Given the description of an element on the screen output the (x, y) to click on. 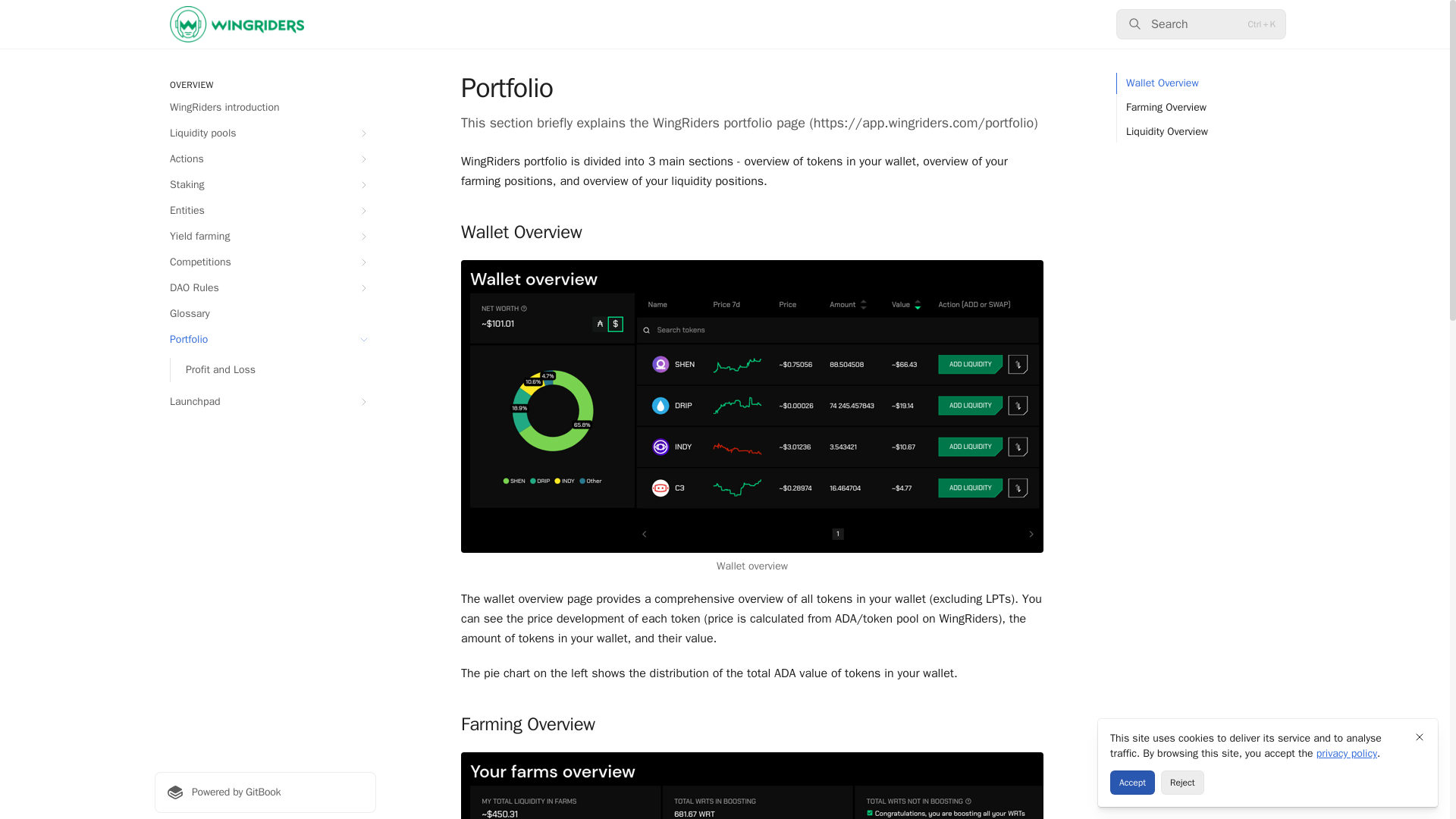
Portfolio (264, 339)
Close (1419, 737)
Competitions (264, 262)
Liquidity pools (264, 133)
DAO Rules (264, 288)
Profit and Loss (272, 369)
Entities (264, 210)
WingRiders introduction (264, 107)
Glossary (264, 313)
Actions (264, 159)
